Given the description of an element on the screen output the (x, y) to click on. 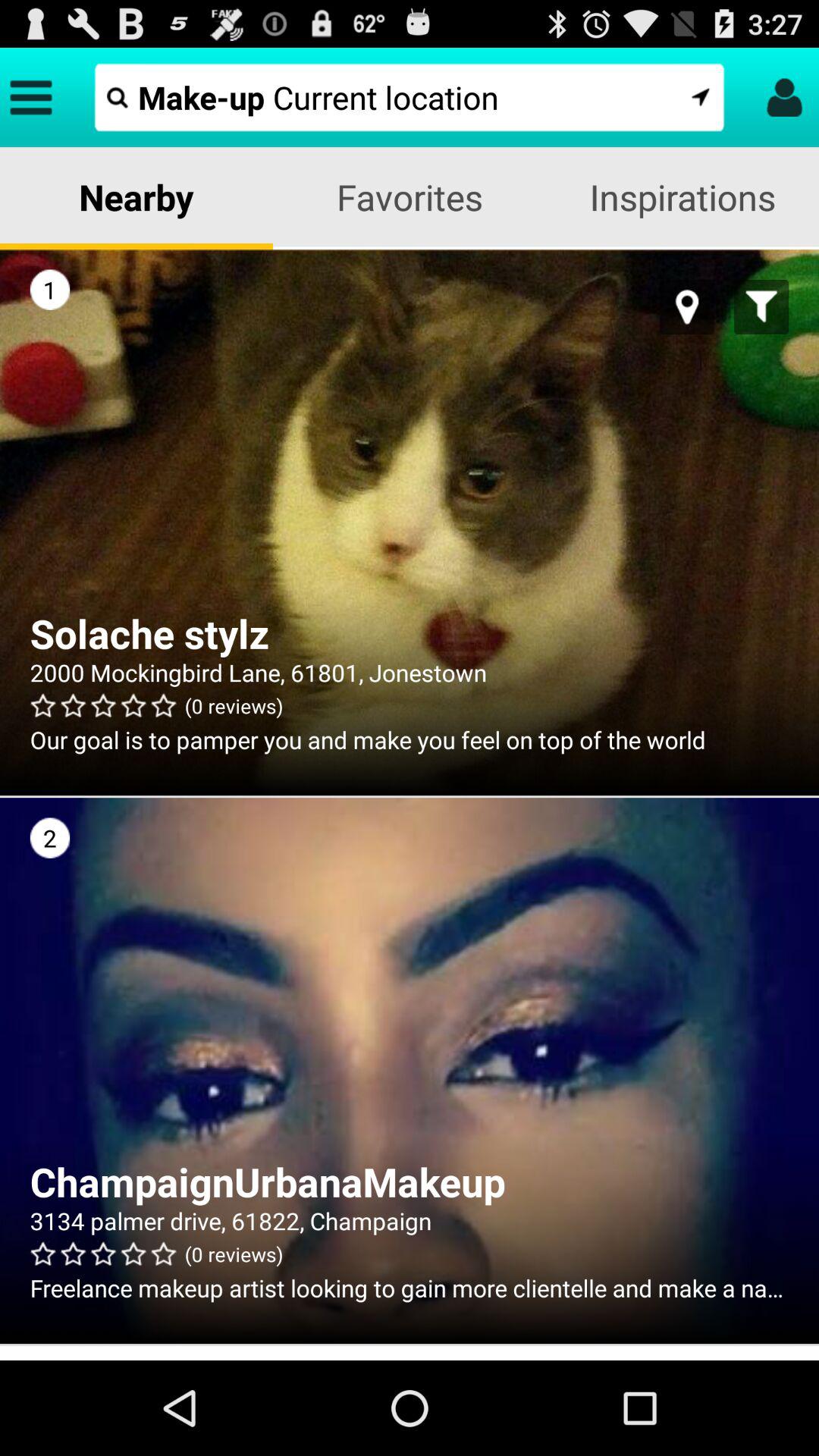
tap the app to the left of inspirations icon (409, 196)
